Given the description of an element on the screen output the (x, y) to click on. 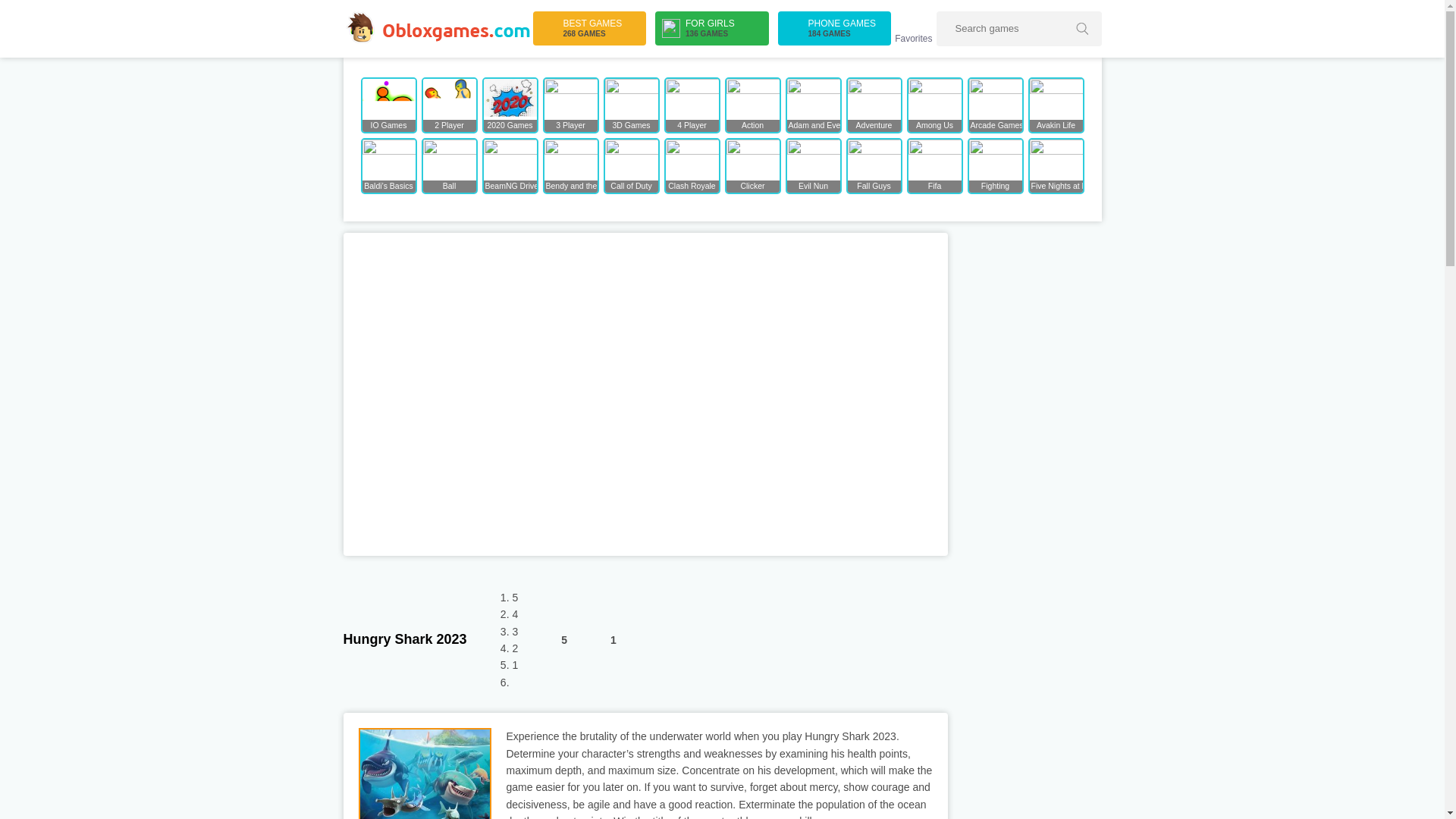
Clash Royale (691, 166)
3 Player (834, 28)
3D Games (570, 104)
5 (631, 104)
4 Player (549, 639)
Clicker (691, 104)
Five Nights at Freddy's (589, 28)
BeamNG Drive (752, 166)
